Given the description of an element on the screen output the (x, y) to click on. 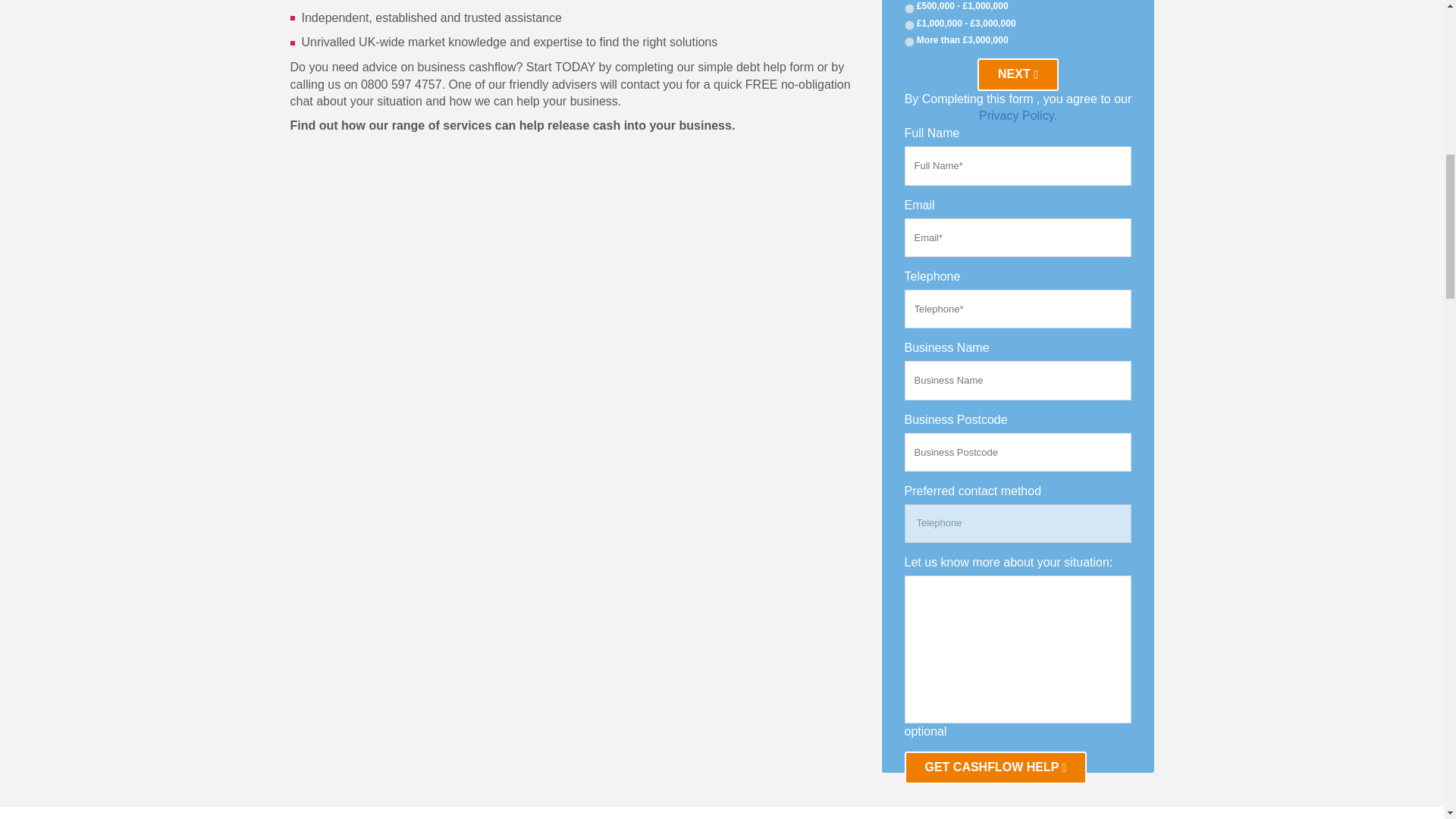
5 (909, 8)
7 (909, 41)
6 (909, 25)
